Given the description of an element on the screen output the (x, y) to click on. 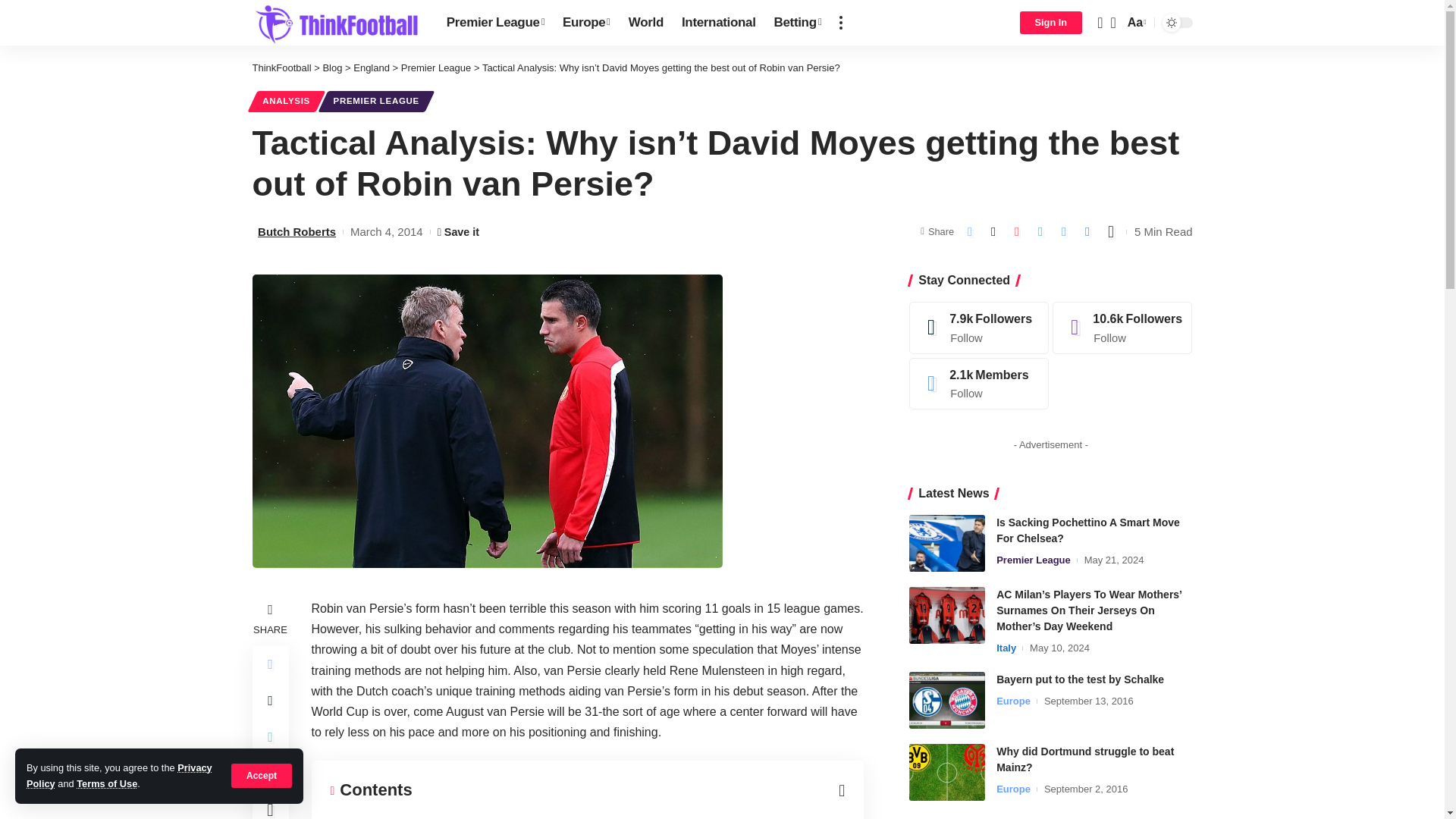
ThinkFootball (336, 22)
Go to the England Category archives. (371, 67)
Privacy Policy (119, 775)
Sign In (1050, 22)
World (646, 22)
International (718, 22)
Is Sacking Pochettino A Smart Move For Chelsea? (946, 543)
Go to ThinkFootball. (281, 67)
Go to Blog. (331, 67)
Why did Dortmund struggle to beat Mainz? (946, 771)
Betting (798, 22)
Go to the Premier League Category archives. (436, 67)
Europe (586, 22)
Bayern put to the test by Schalke (946, 699)
Premier League (495, 22)
